Given the description of an element on the screen output the (x, y) to click on. 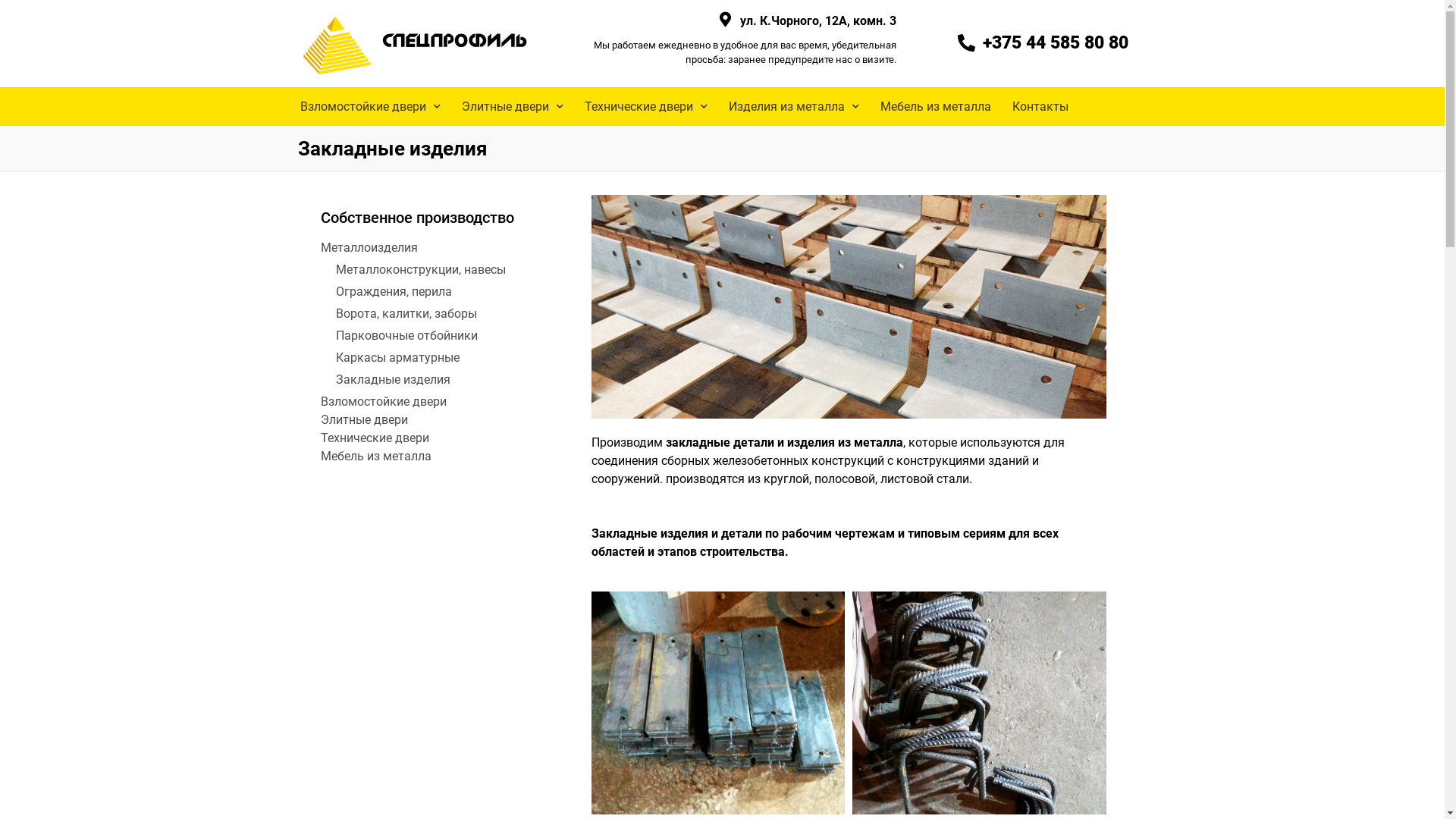
+375 44 585 80 80 Element type: text (1041, 42)
